Given the description of an element on the screen output the (x, y) to click on. 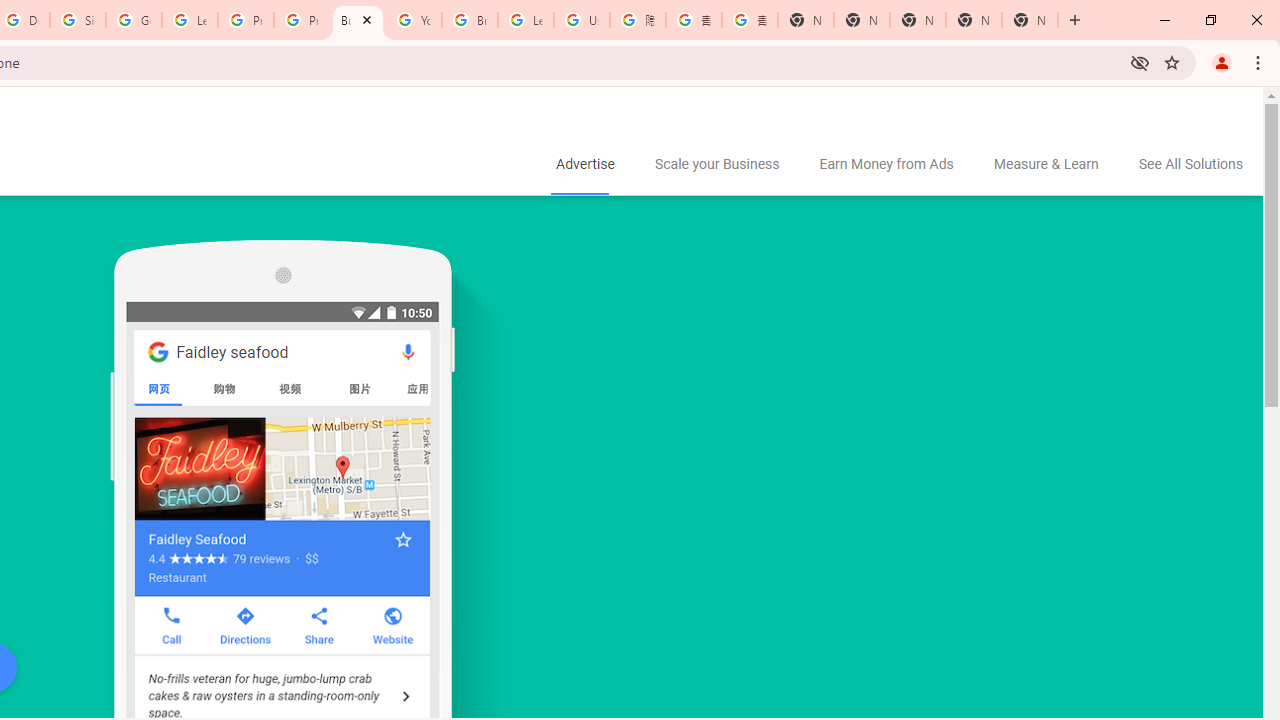
Advertise (584, 165)
See All Solutions (1189, 165)
Privacy Help Center - Policies Help (301, 20)
New Tab (1030, 20)
Scale your Business (716, 165)
